Given the description of an element on the screen output the (x, y) to click on. 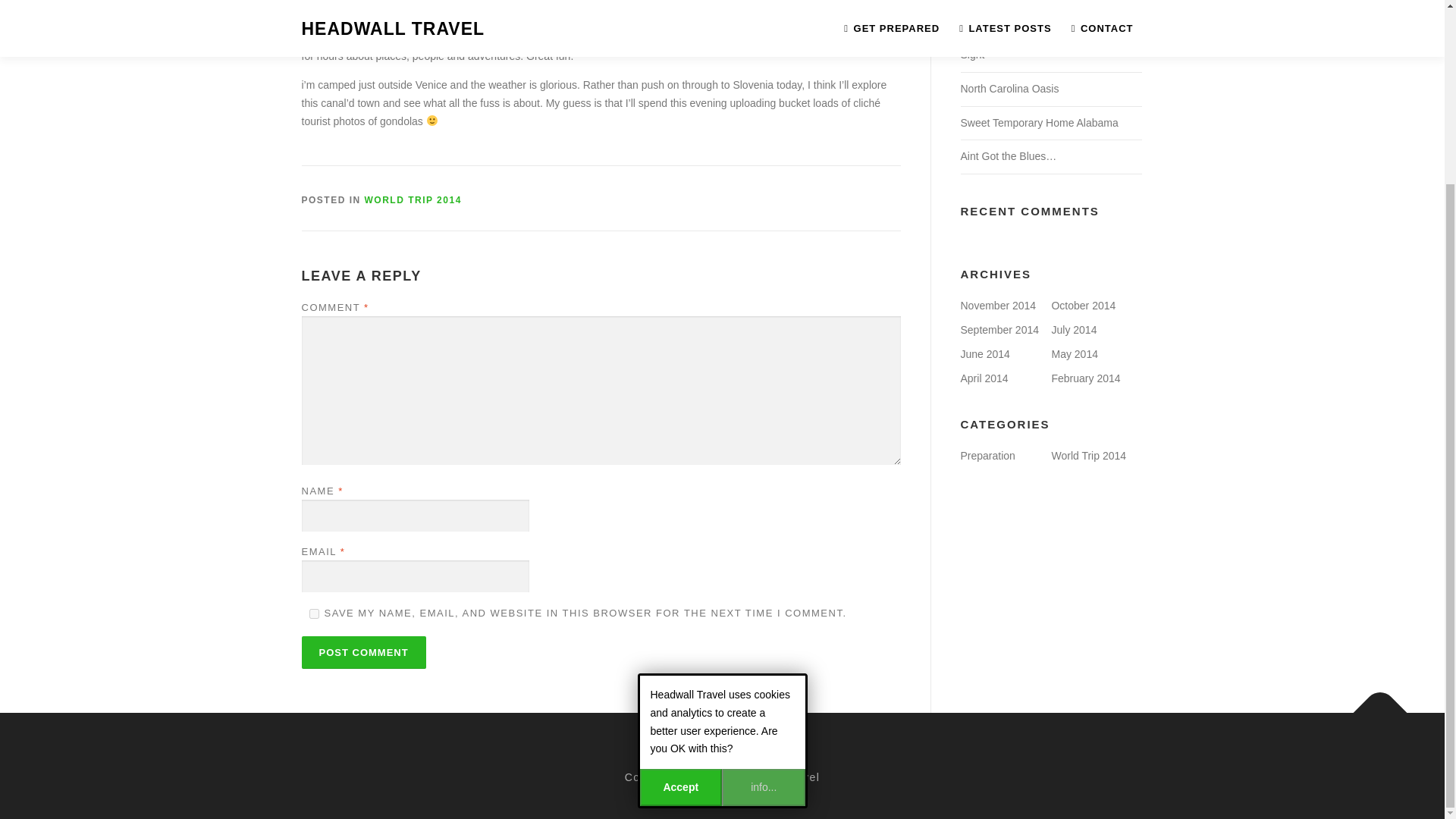
June 2014 (984, 354)
World Trip 2014 (1088, 455)
April 2014 (983, 378)
February 2014 (1085, 378)
Privacy Policy (721, 753)
May 2014 (1074, 354)
July 2014 (1073, 329)
Post Comment (363, 652)
Sweet Temporary Home Alabama (1038, 122)
WORLD TRIP 2014 (413, 199)
Post Comment (363, 652)
North Carolina Oasis (1008, 88)
info... (763, 560)
September 2014 (999, 329)
Preparation (986, 455)
